Given the description of an element on the screen output the (x, y) to click on. 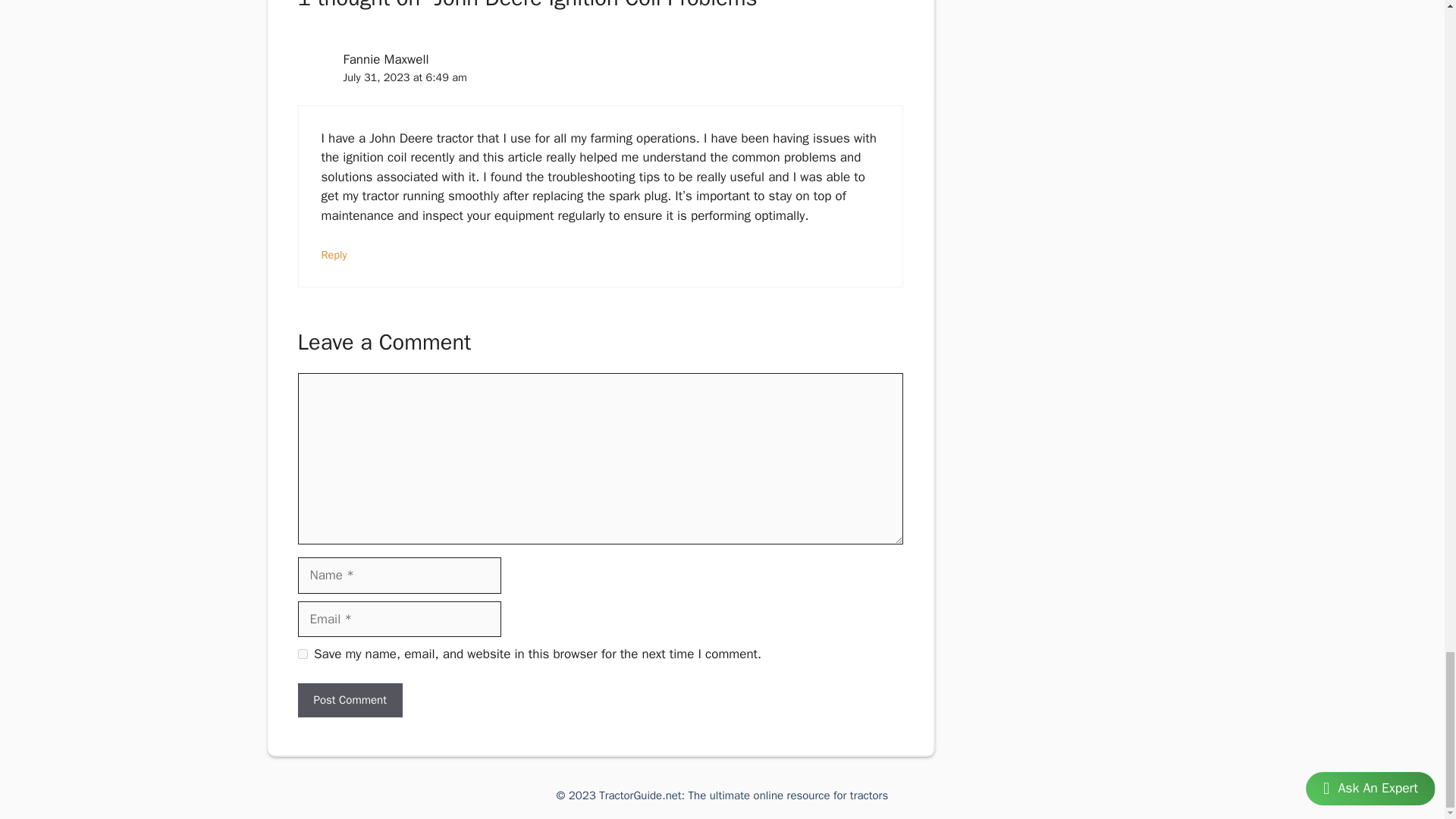
Post Comment (349, 700)
Reply (334, 254)
yes (302, 654)
July 31, 2023 at 6:49 am (403, 77)
Post Comment (349, 700)
